Given the description of an element on the screen output the (x, y) to click on. 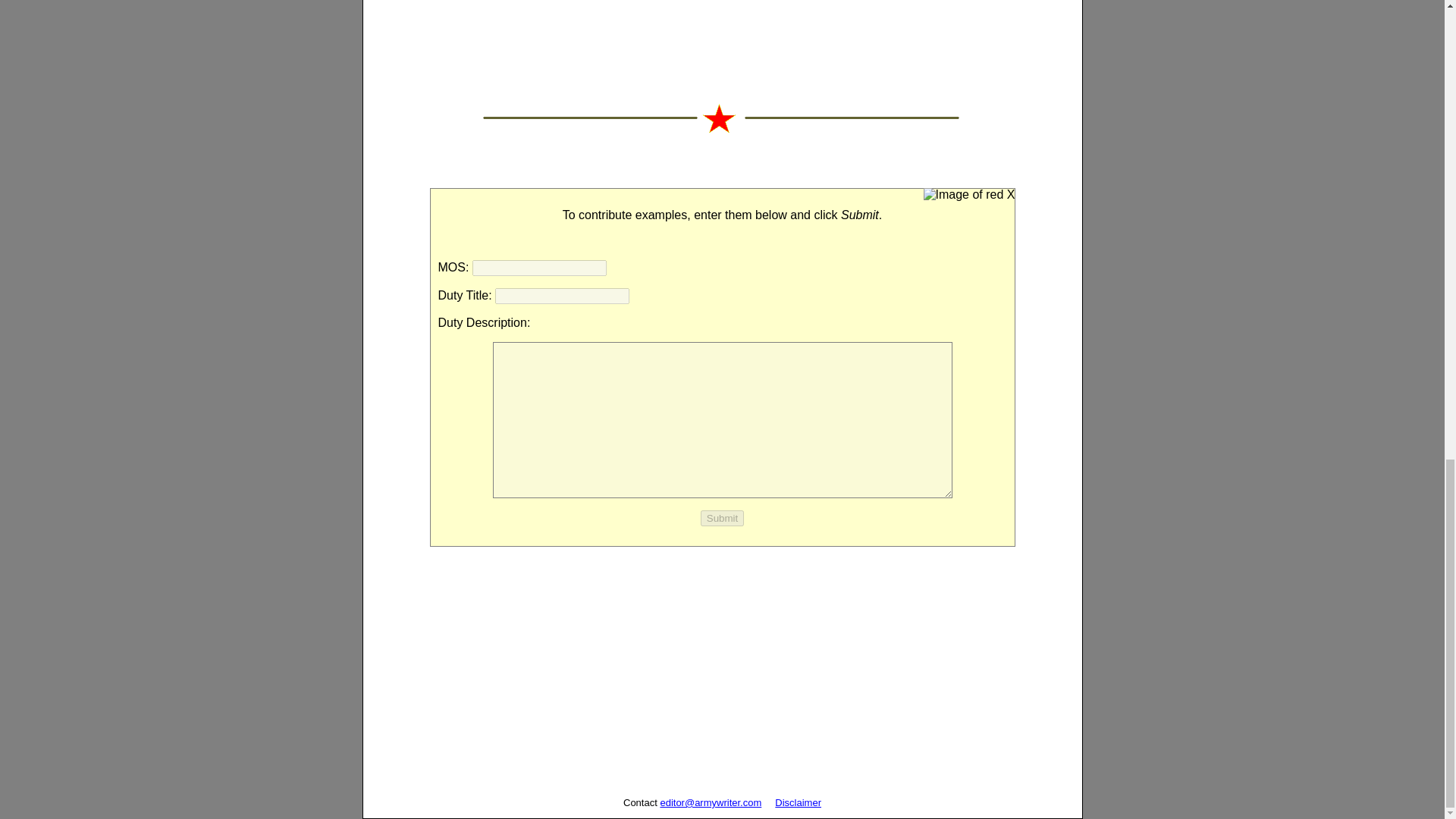
Disclaimer (797, 802)
Submit (722, 518)
Submit (722, 518)
